Given the description of an element on the screen output the (x, y) to click on. 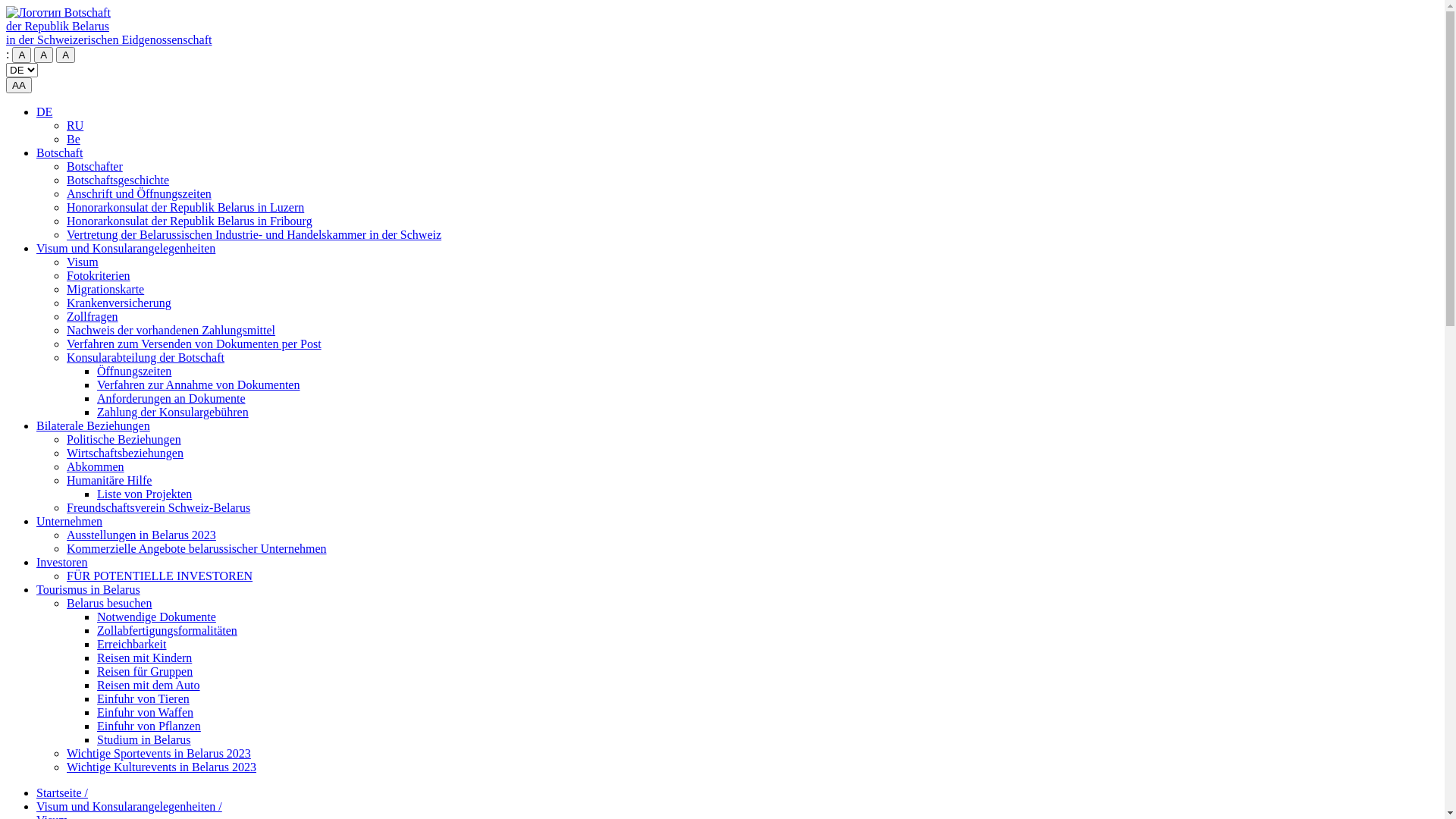
Startseite / Element type: text (61, 792)
Verfahren zur Annahme von Dokumenten Element type: text (198, 384)
Politische Beziehungen Element type: text (123, 439)
Anforderungen an Dokumente Element type: text (171, 398)
Bilaterale Beziehungen Element type: text (93, 425)
A Element type: text (65, 54)
A Element type: text (43, 54)
Zollfragen Element type: text (92, 316)
Wichtige Sportevents in Belarus 2023 Element type: text (158, 752)
Tourismus in Belarus Element type: text (88, 589)
Honorarkonsulat der Republik Belarus in Fribourg Element type: text (189, 220)
Einfuhr von Tieren Element type: text (143, 698)
Be Element type: text (73, 138)
Unternehmen Element type: text (69, 520)
Honorarkonsulat der Republik Belarus in Luzern Element type: text (185, 206)
Einfuhr von Pflanzen Element type: text (148, 725)
Konsularabteilung der Botschaft Element type: text (145, 357)
Wirtschaftsbeziehungen Element type: text (124, 452)
Abkommen Element type: text (95, 466)
Reisen mit dem Auto Element type: text (148, 684)
Einfuhr von Waffen Element type: text (145, 712)
A Element type: text (21, 54)
AA Element type: text (18, 85)
Visum und Konsularangelegenheiten / Element type: text (129, 806)
RU Element type: text (74, 125)
Notwendige Dokumente Element type: text (156, 616)
Botschaft Element type: text (59, 152)
Erreichbarkeit Element type: text (131, 643)
Belarus besuchen Element type: text (108, 602)
Ausstellungen in Belarus 2023 Element type: text (141, 534)
Krankenversicherung Element type: text (118, 302)
Freundschaftsverein Schweiz-Belarus Element type: text (158, 507)
Fotokriterien Element type: text (98, 275)
Botschafter Element type: text (94, 166)
Migrationskarte Element type: text (105, 288)
Kommerzielle Angebote belarussischer Unternehmen Element type: text (196, 548)
Investoren Element type: text (61, 561)
Nachweis der vorhandenen Zahlungsmittel Element type: text (170, 329)
Visum Element type: text (82, 261)
Studium in Belarus Element type: text (144, 739)
Botschaftsgeschichte Element type: text (117, 179)
Reisen mit Kindern Element type: text (144, 657)
Verfahren zum Versenden von Dokumenten per Post Element type: text (193, 343)
Liste von Projekten Element type: text (144, 493)
Wichtige Kulturevents in Belarus 2023 Element type: text (161, 766)
Visum und Konsularangelegenheiten Element type: text (125, 247)
DE Element type: text (44, 111)
